Given the description of an element on the screen output the (x, y) to click on. 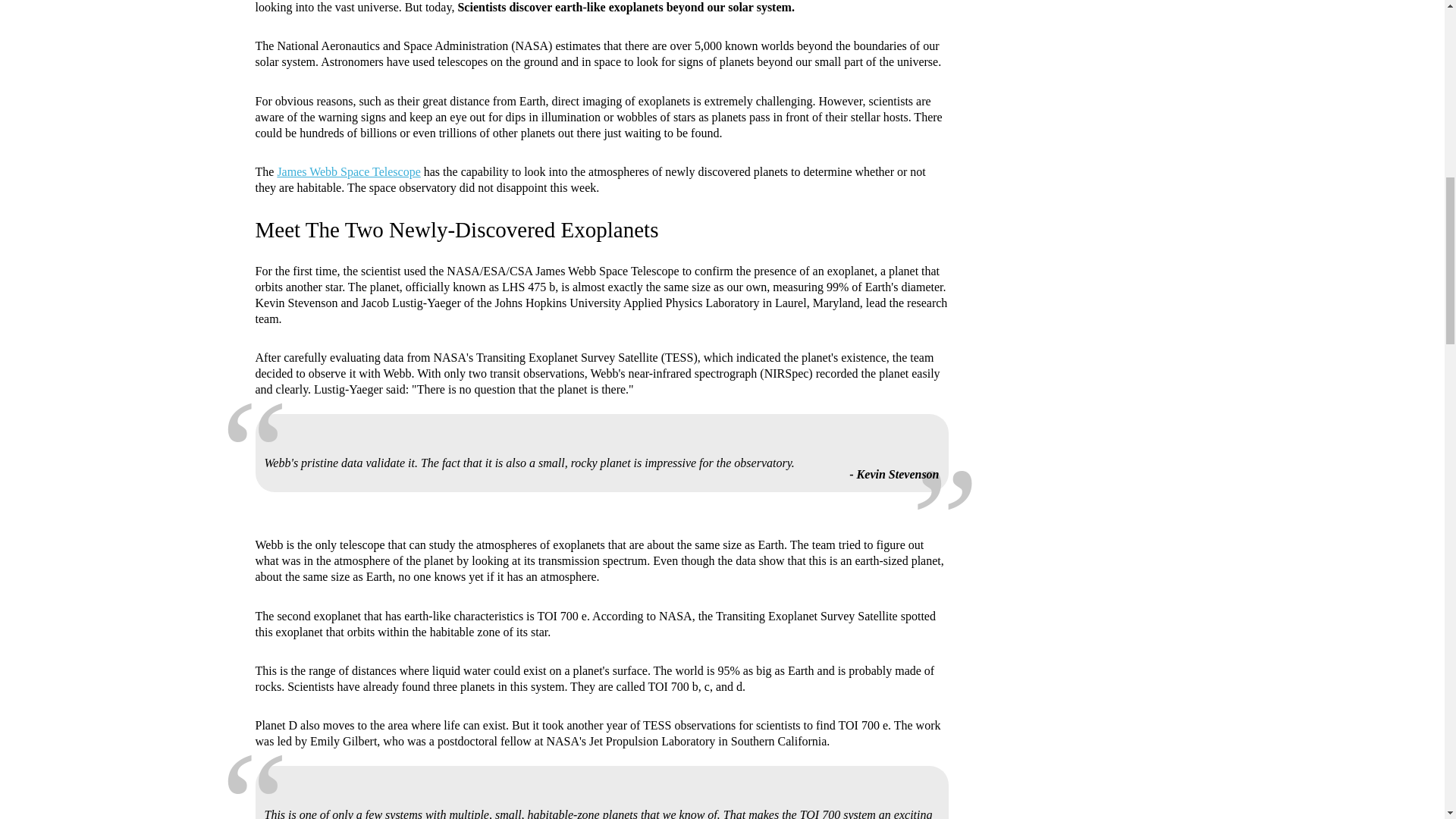
James Webb Space Telescope (348, 171)
Meet The Two Newly-Discovered Exoplanets (456, 229)
Meet The Two Newly-Discovered Exoplanets (456, 229)
